Given the description of an element on the screen output the (x, y) to click on. 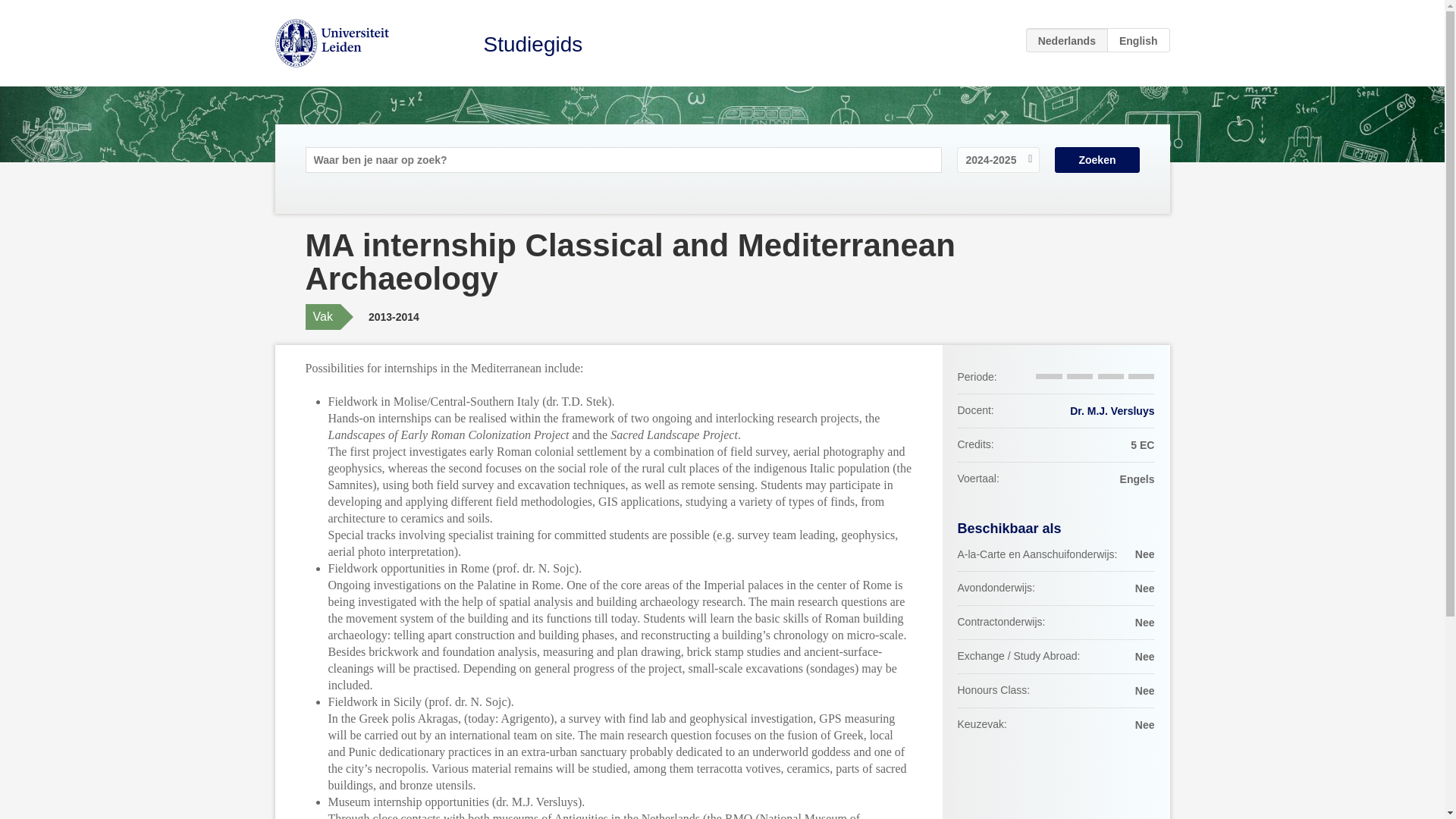
Studiegids (533, 44)
Zoeken (1096, 159)
Dr. M.J. Versluys (1112, 410)
EN (1138, 39)
